Given the description of an element on the screen output the (x, y) to click on. 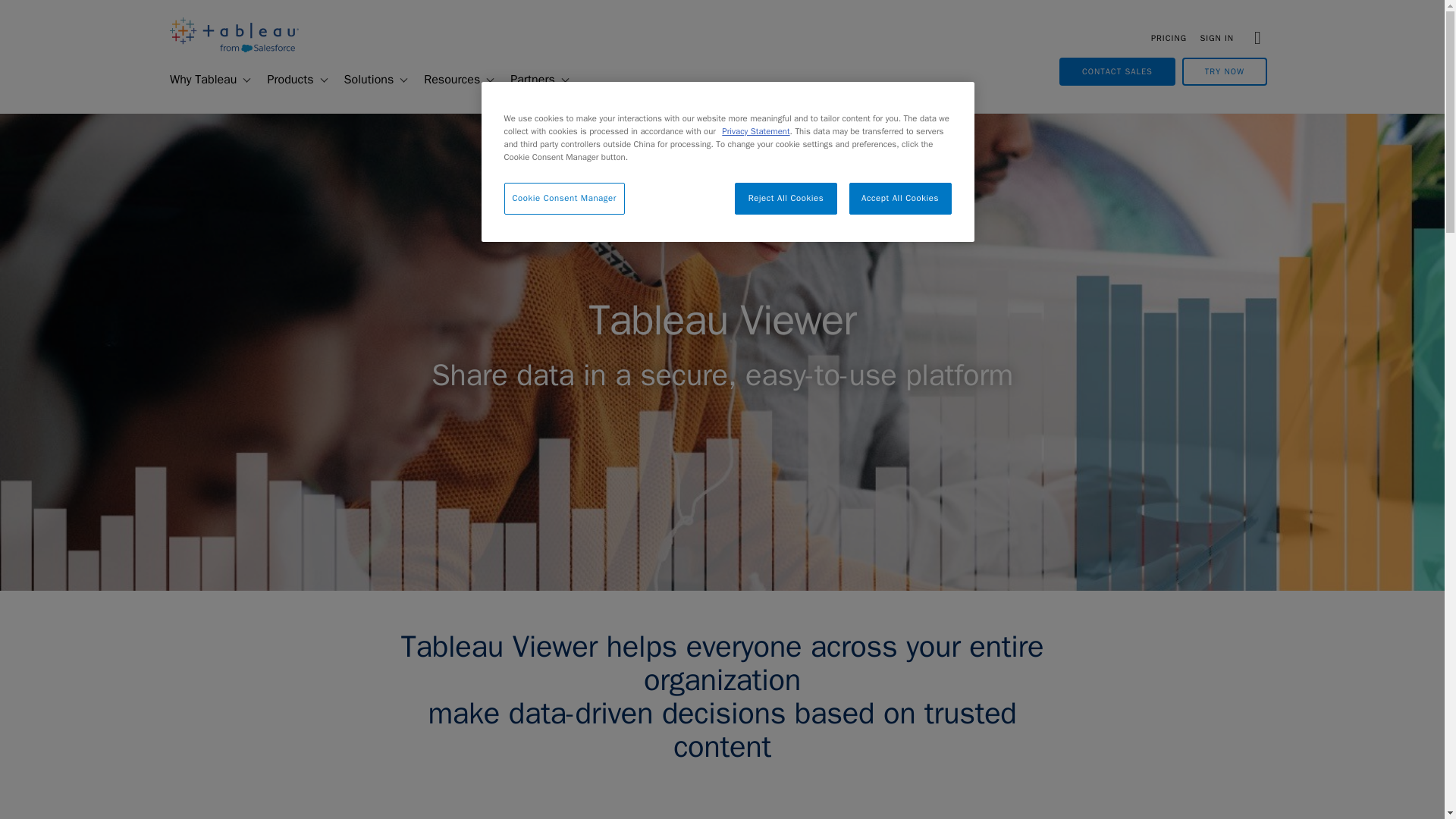
Products (283, 79)
Why Tableau (196, 79)
Solutions (362, 79)
Return to the Tableau Software home page (234, 48)
